Given the description of an element on the screen output the (x, y) to click on. 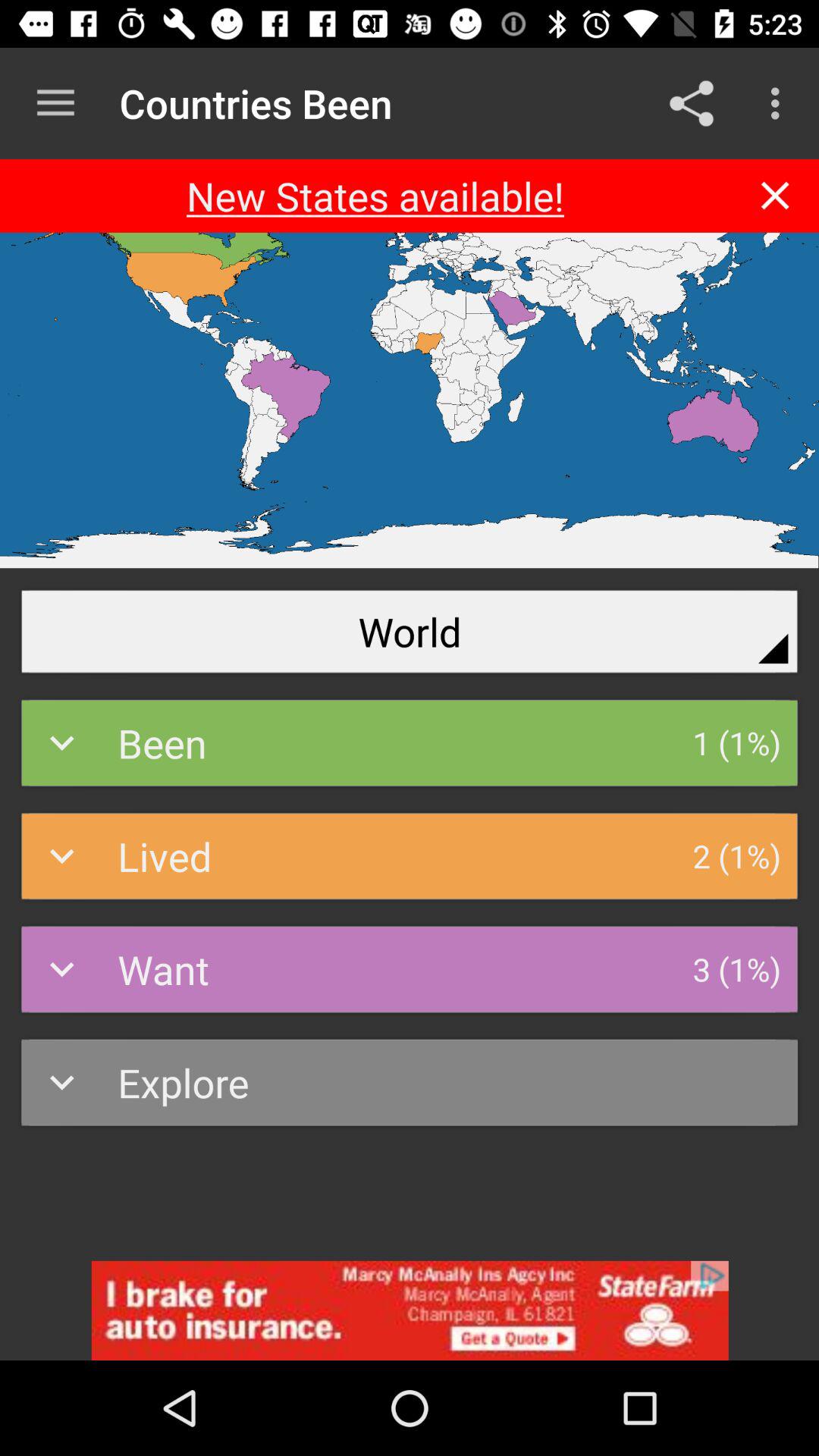
menu button (55, 103)
